Given the description of an element on the screen output the (x, y) to click on. 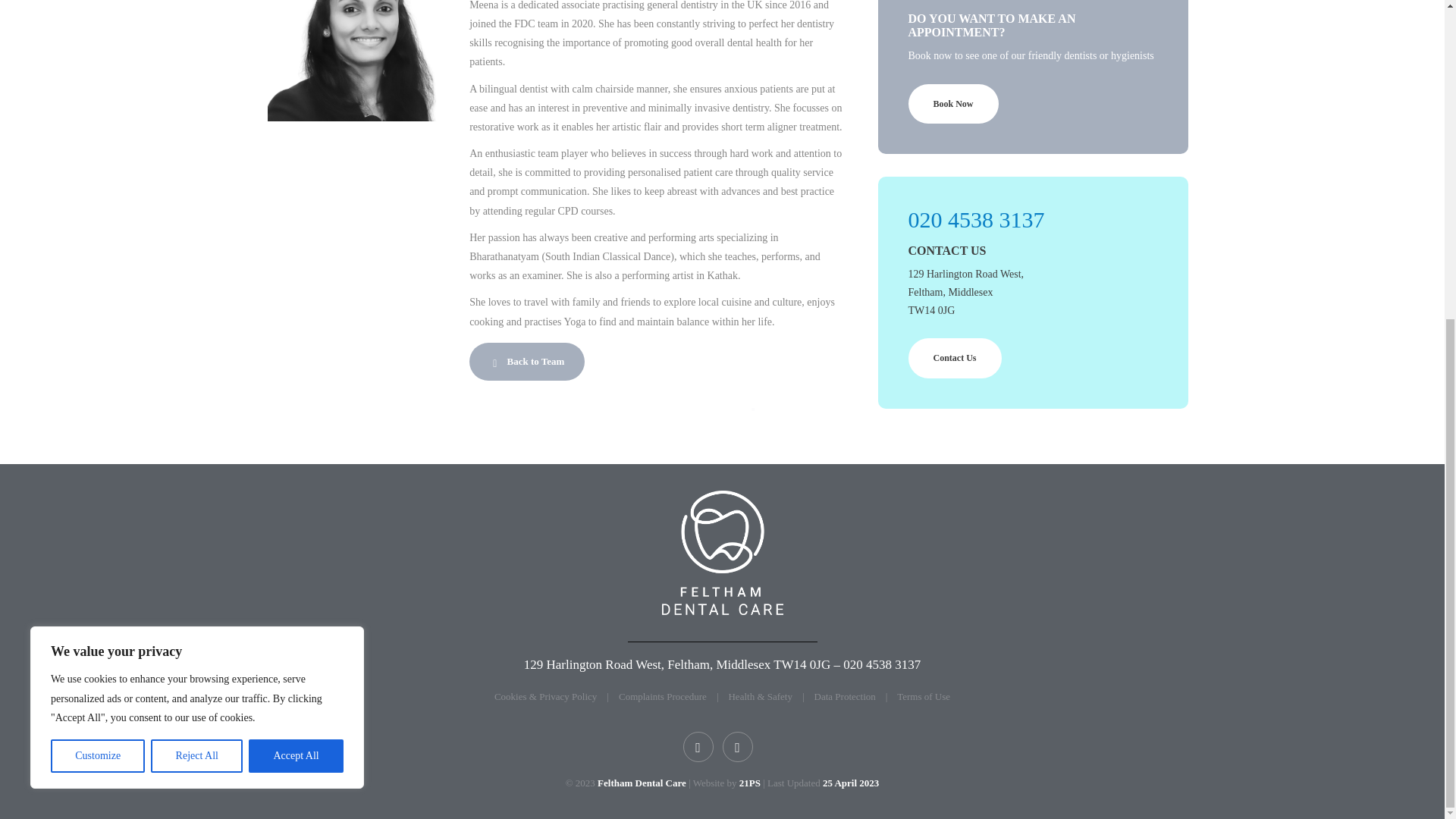
Reject All (197, 238)
Customize (97, 238)
Dr. Selvameena Anand Feltham Dental Care (356, 60)
Dr. Selvameena Anand Feltham Dental Care (722, 552)
Accept All (295, 238)
